Given the description of an element on the screen output the (x, y) to click on. 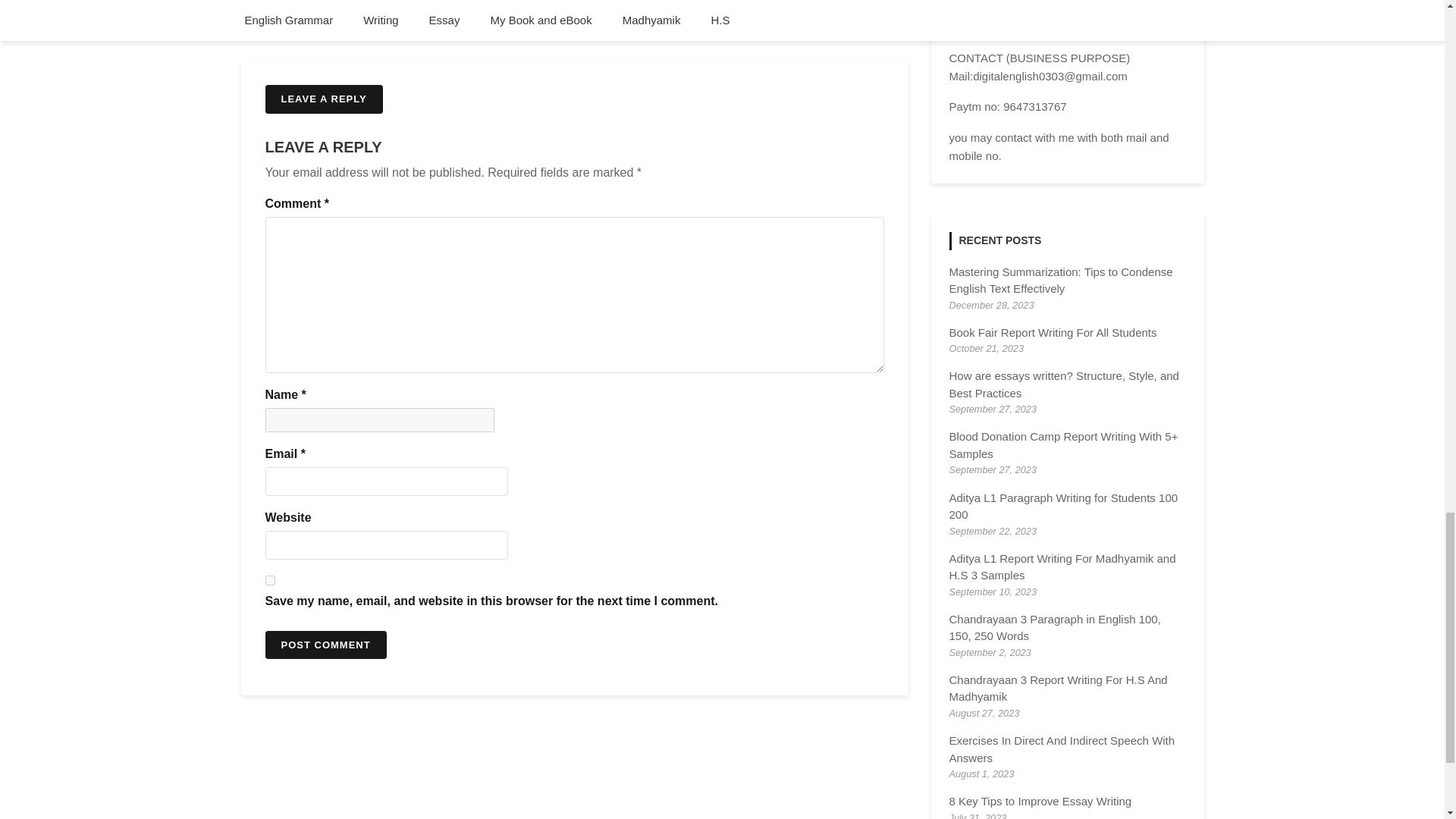
PREVIOUS (287, 12)
yes (269, 580)
Post Comment (325, 645)
